Given the description of an element on the screen output the (x, y) to click on. 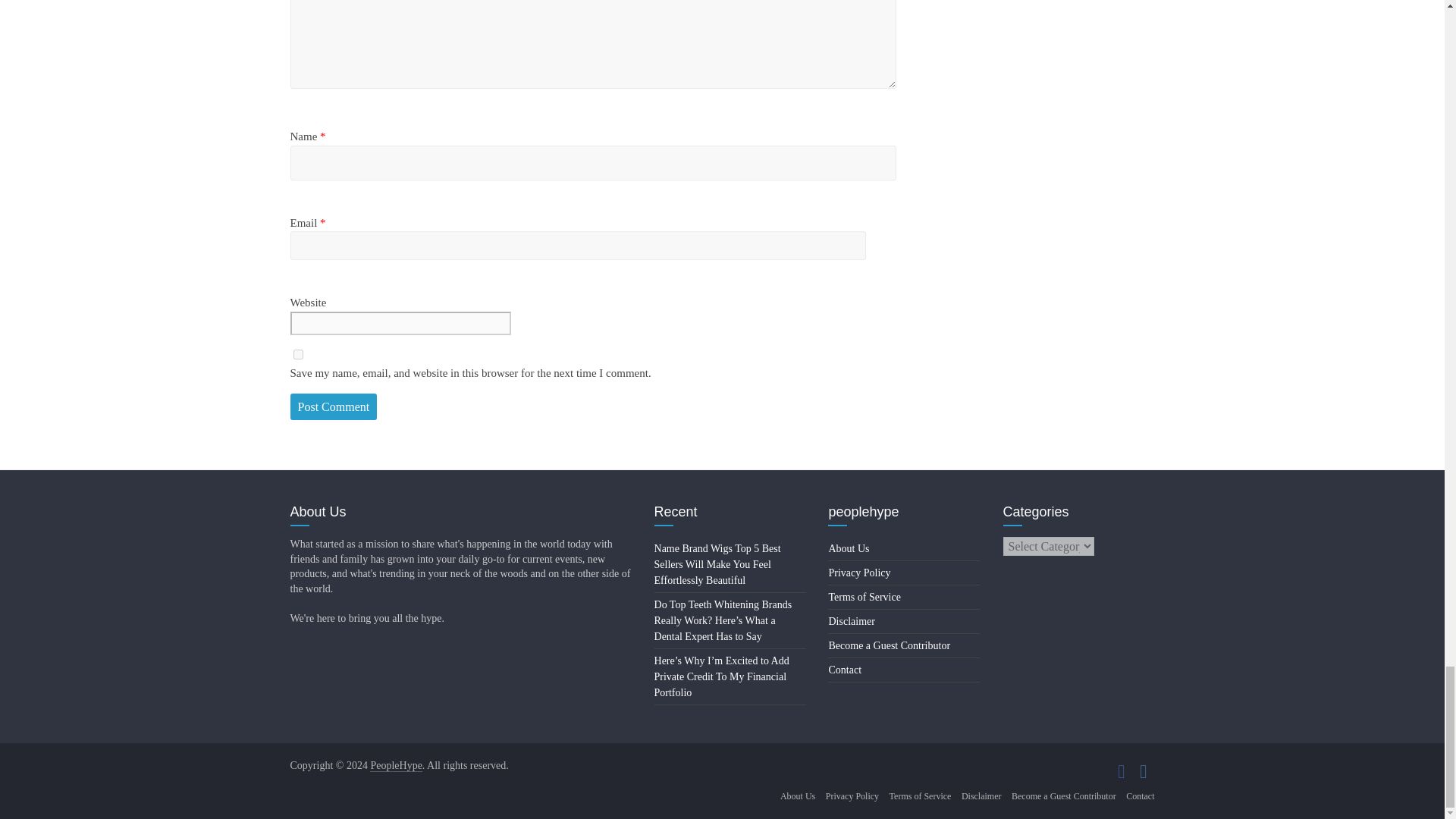
Post Comment (333, 406)
yes (297, 354)
